Given the description of an element on the screen output the (x, y) to click on. 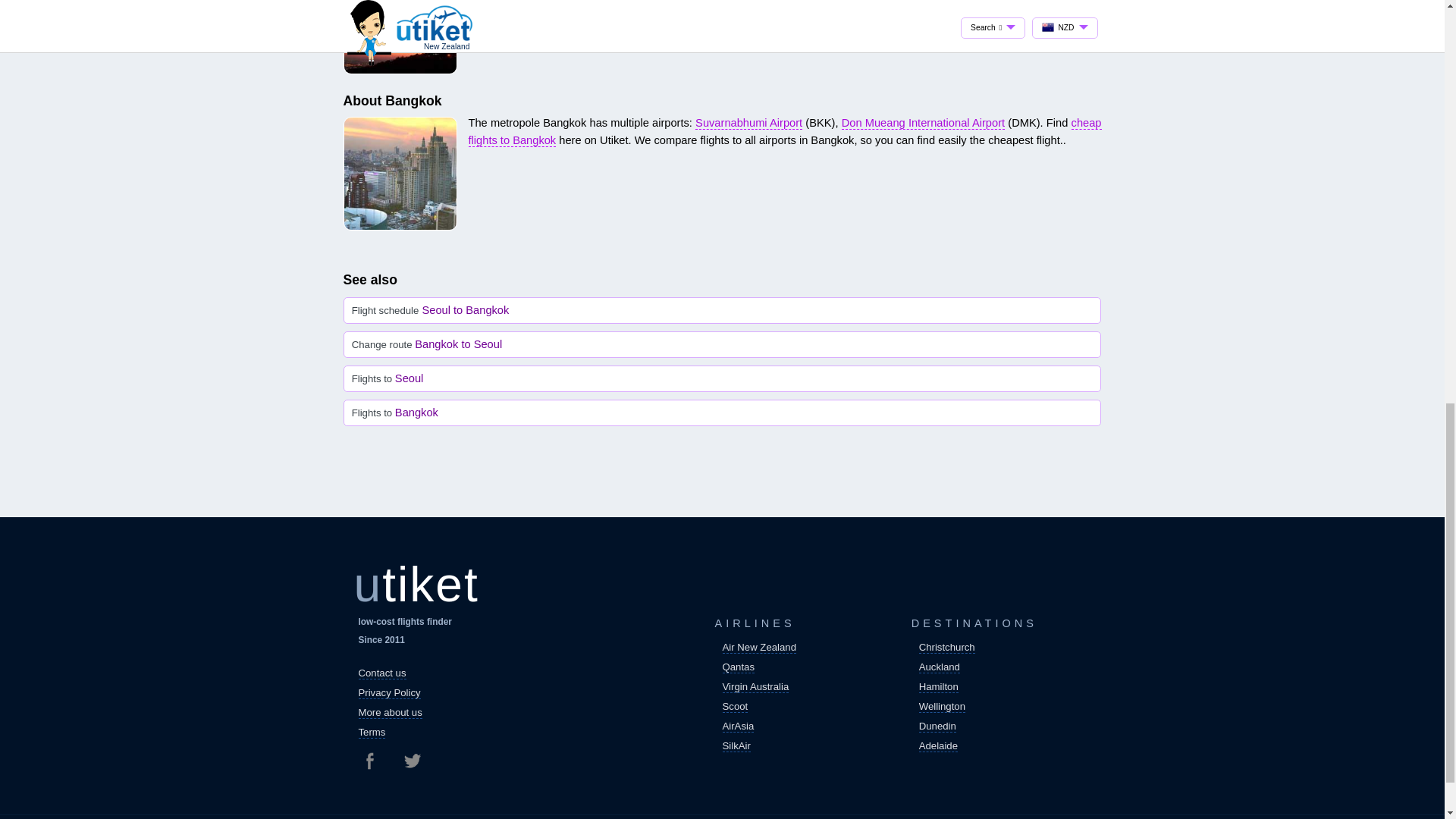
Utiket on Facebook (374, 760)
Suvarnabhumi Airport (748, 123)
cheap flights to Bangkok (785, 132)
More about us (390, 712)
Change route Bangkok to Seoul (721, 344)
Flight schedule Seoul to Bangkok (721, 310)
Contact us (382, 673)
Utiket on Twitter (411, 760)
Flights to Bangkok (721, 412)
Don Mueang International Airport (922, 123)
Privacy Policy (389, 693)
Flights to Seoul (721, 378)
